Given the description of an element on the screen output the (x, y) to click on. 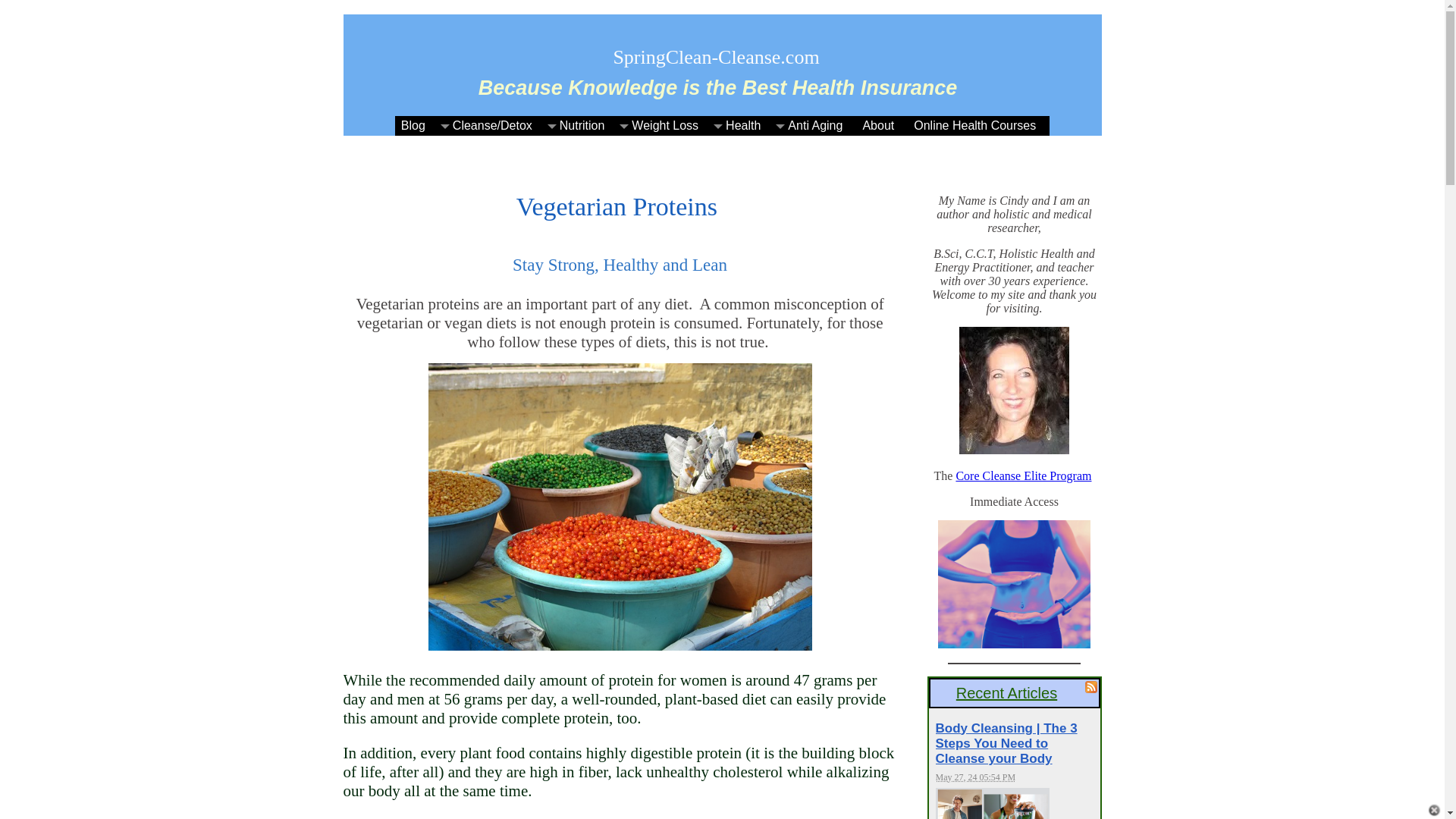
Core Cleanse woman stomach pink blue (1013, 583)
2024-05-27T17:54:19-0400 (976, 777)
SpringClean-Cleanse.com (715, 56)
Blog (416, 125)
bean protein (620, 507)
